Given the description of an element on the screen output the (x, y) to click on. 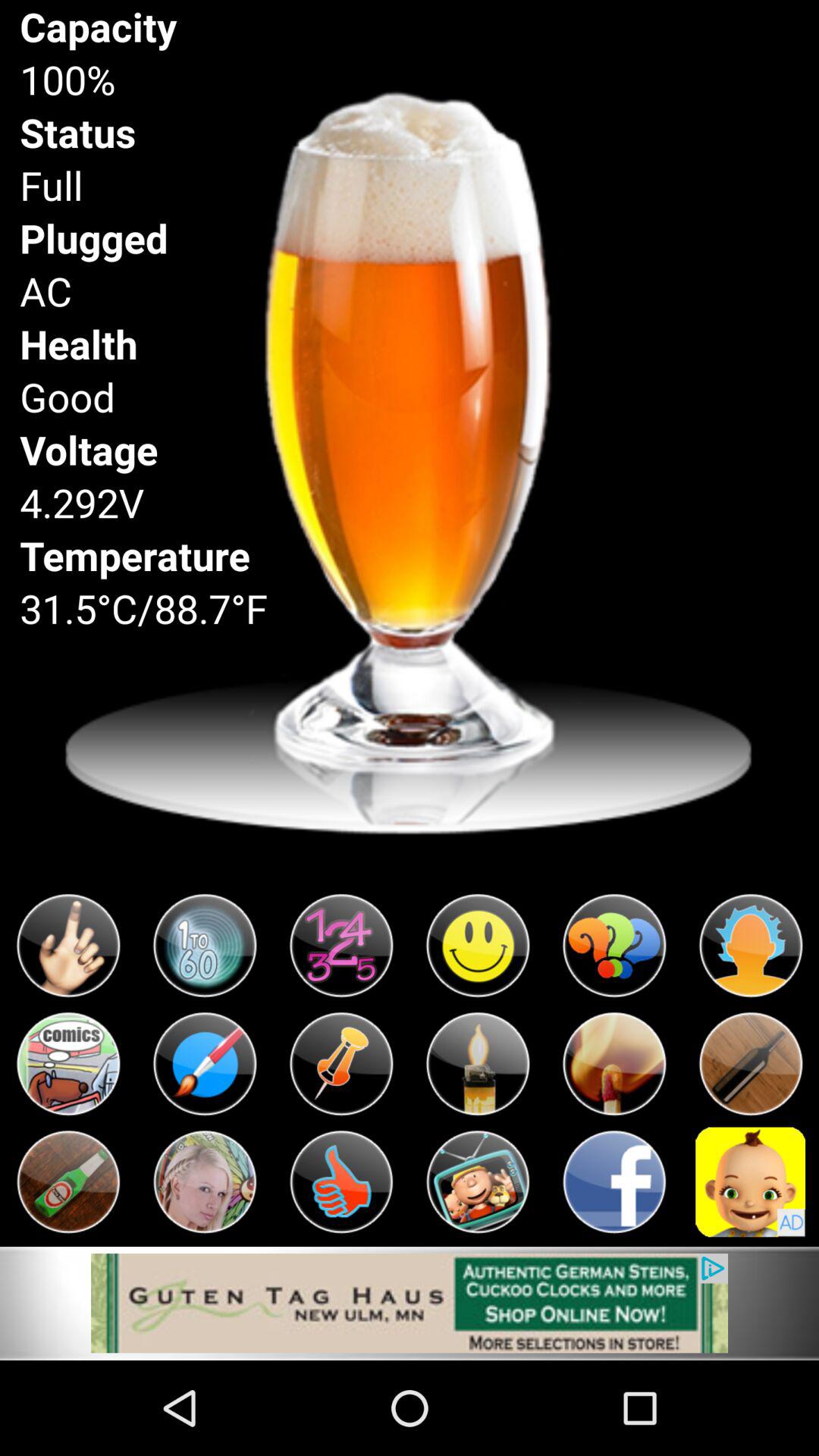
visit website (409, 1303)
